Given the description of an element on the screen output the (x, y) to click on. 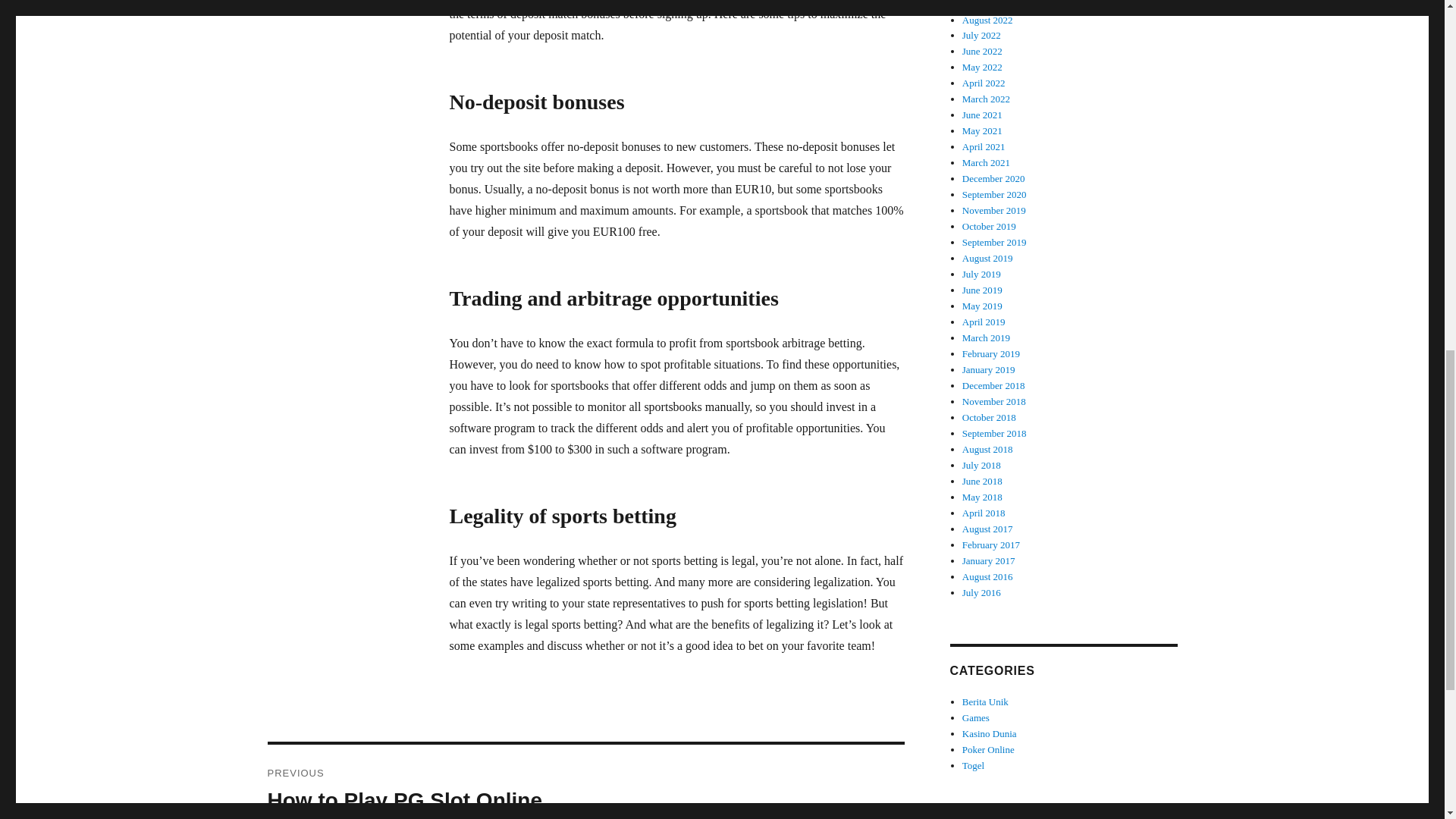
Games (976, 717)
Berita Unik (585, 781)
September 2022 (985, 701)
